Given the description of an element on the screen output the (x, y) to click on. 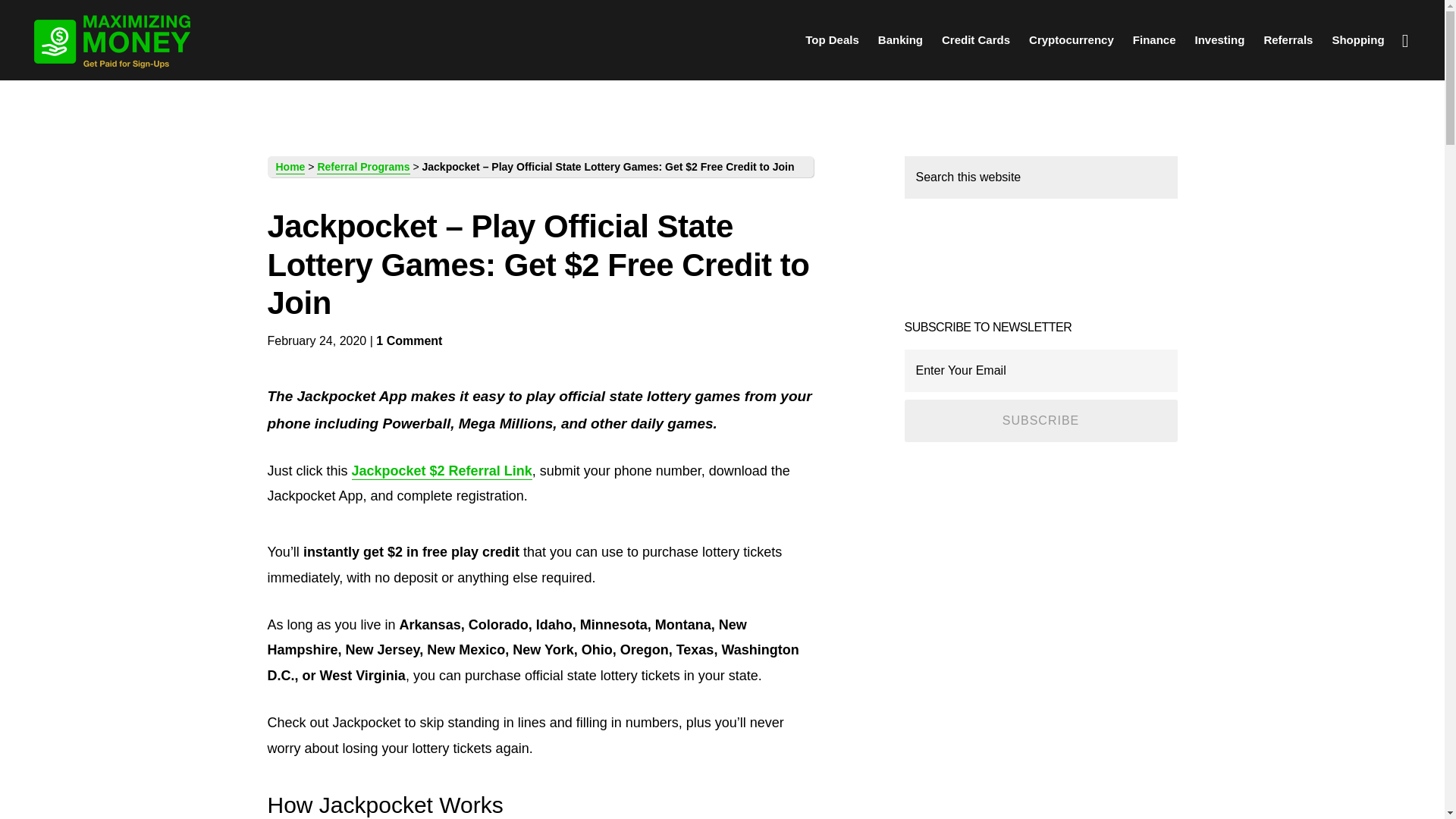
Referrals (1287, 39)
Home (290, 167)
Top Deals (831, 39)
Referral Programs (1287, 39)
Referral Programs (363, 167)
Subscribe (1040, 420)
Credit Card Offers (975, 39)
Banking (900, 39)
Cryptocurrency (1071, 39)
